Given the description of an element on the screen output the (x, y) to click on. 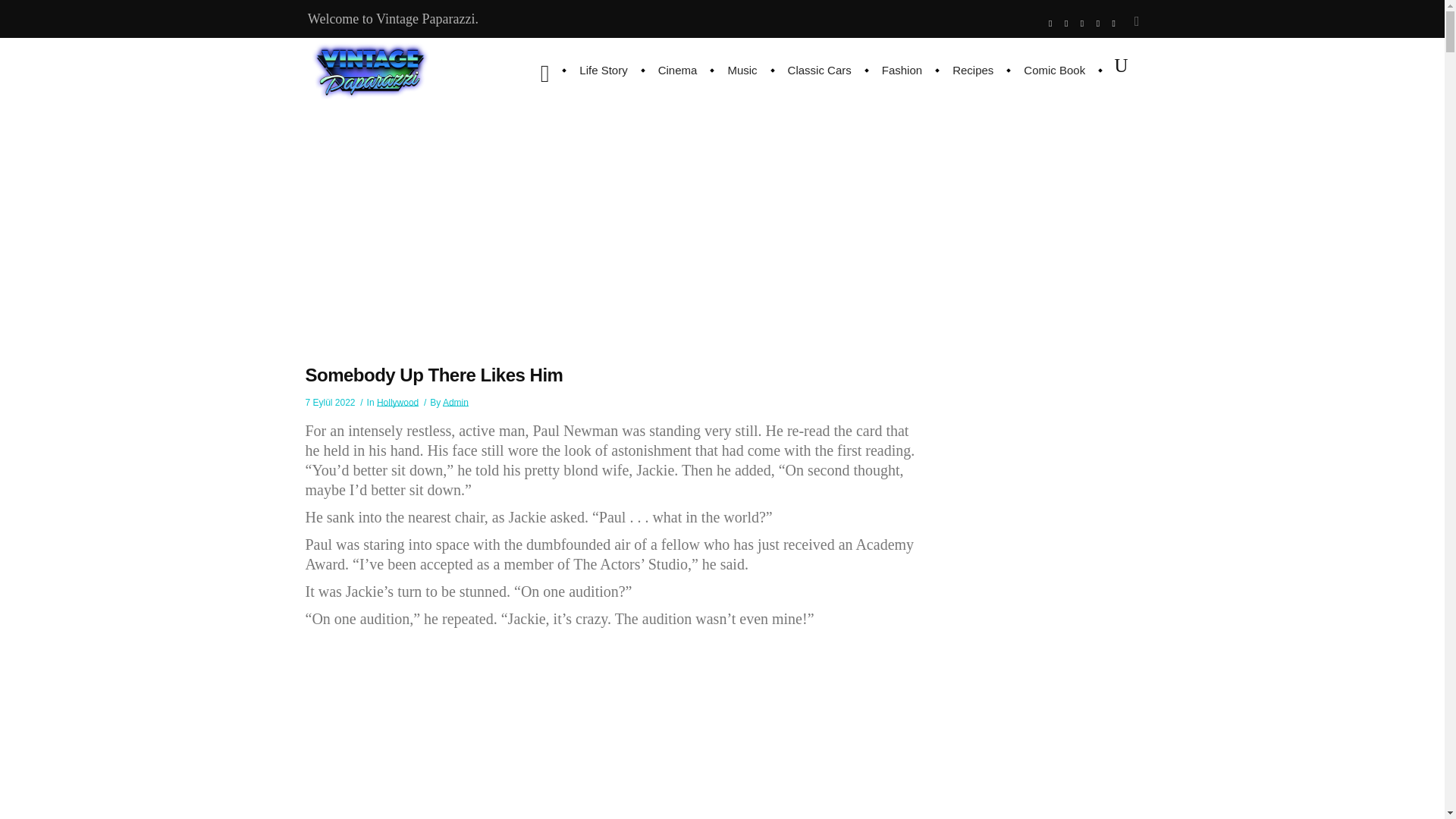
Classic Cars (819, 69)
Comic Book (1054, 69)
Recipes (973, 69)
Life Story (603, 69)
Hollywood (398, 402)
Fashion (901, 69)
Music (741, 69)
Cinema (678, 69)
